Given the description of an element on the screen output the (x, y) to click on. 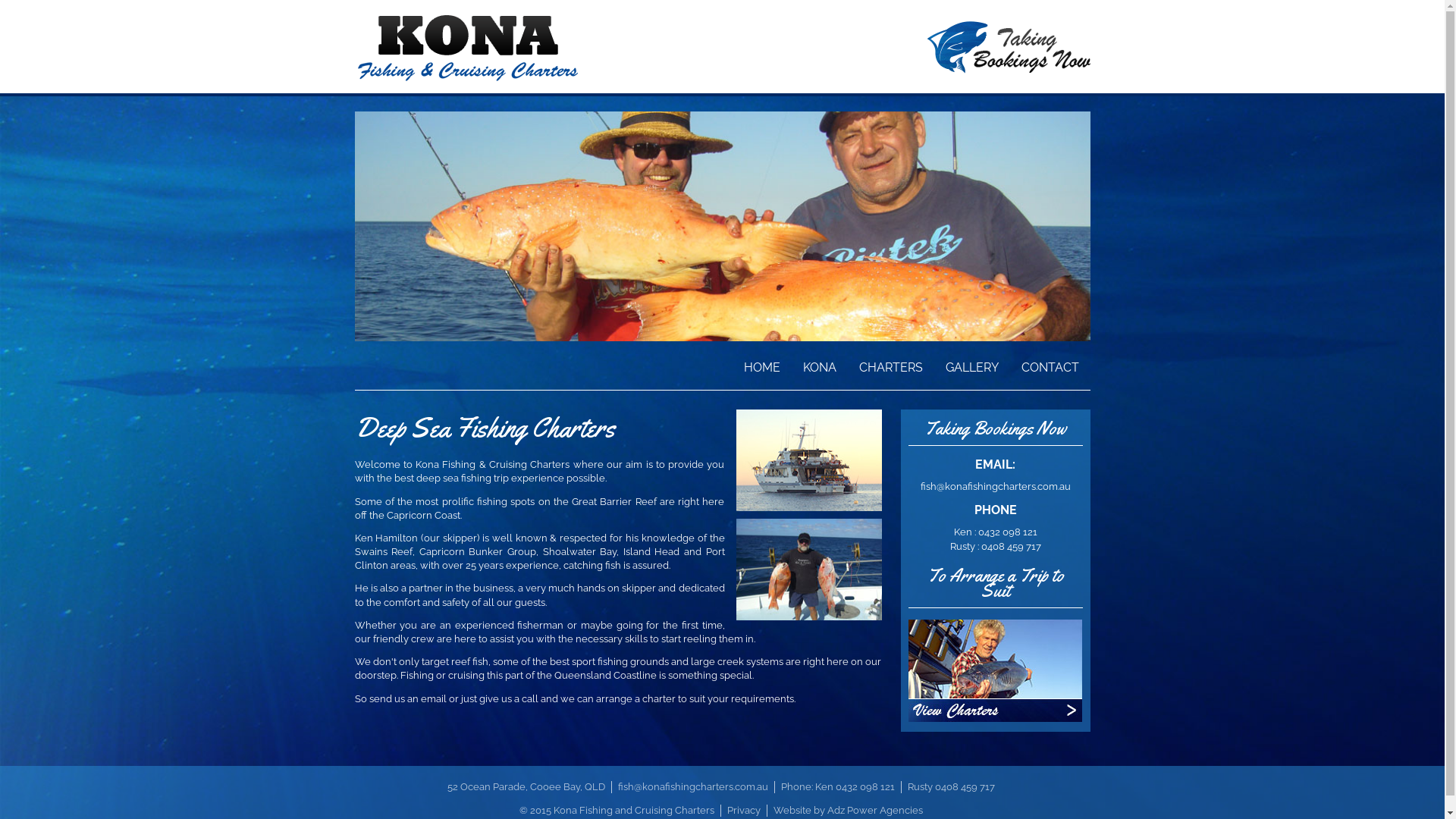
GALLERY Element type: text (972, 361)
fish@konafishingcharters.com.au Element type: text (995, 486)
HOME Element type: text (761, 361)
CHARTERS Element type: text (890, 361)
Website by Adz Power Agencies Element type: text (847, 809)
KONA Element type: text (819, 361)
Privacy Element type: text (743, 809)
fish@konafishingcharters.com.au Element type: text (693, 786)
CONTACT Element type: text (1050, 361)
